Given the description of an element on the screen output the (x, y) to click on. 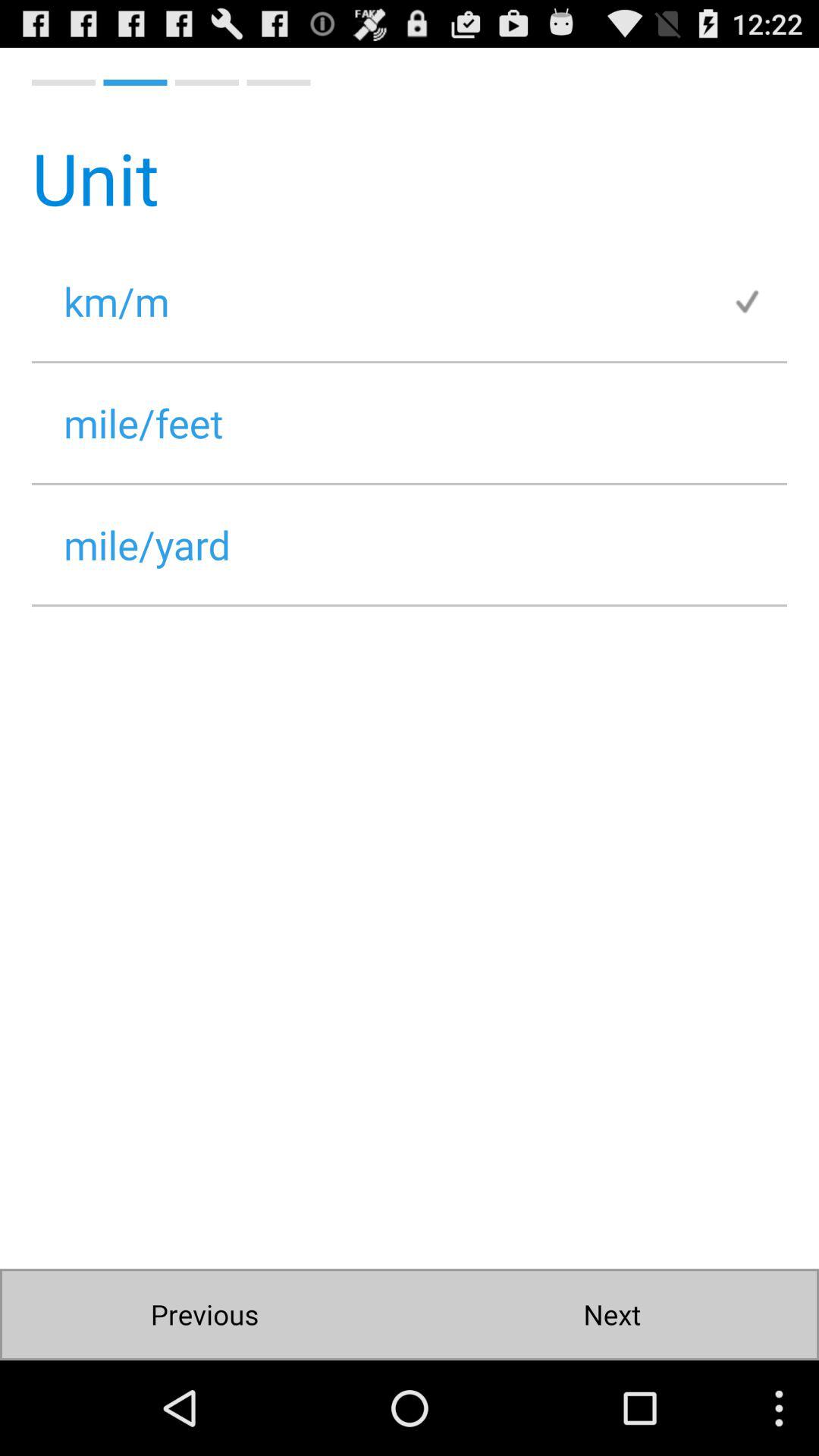
press the icon at the bottom left corner (204, 1314)
